Given the description of an element on the screen output the (x, y) to click on. 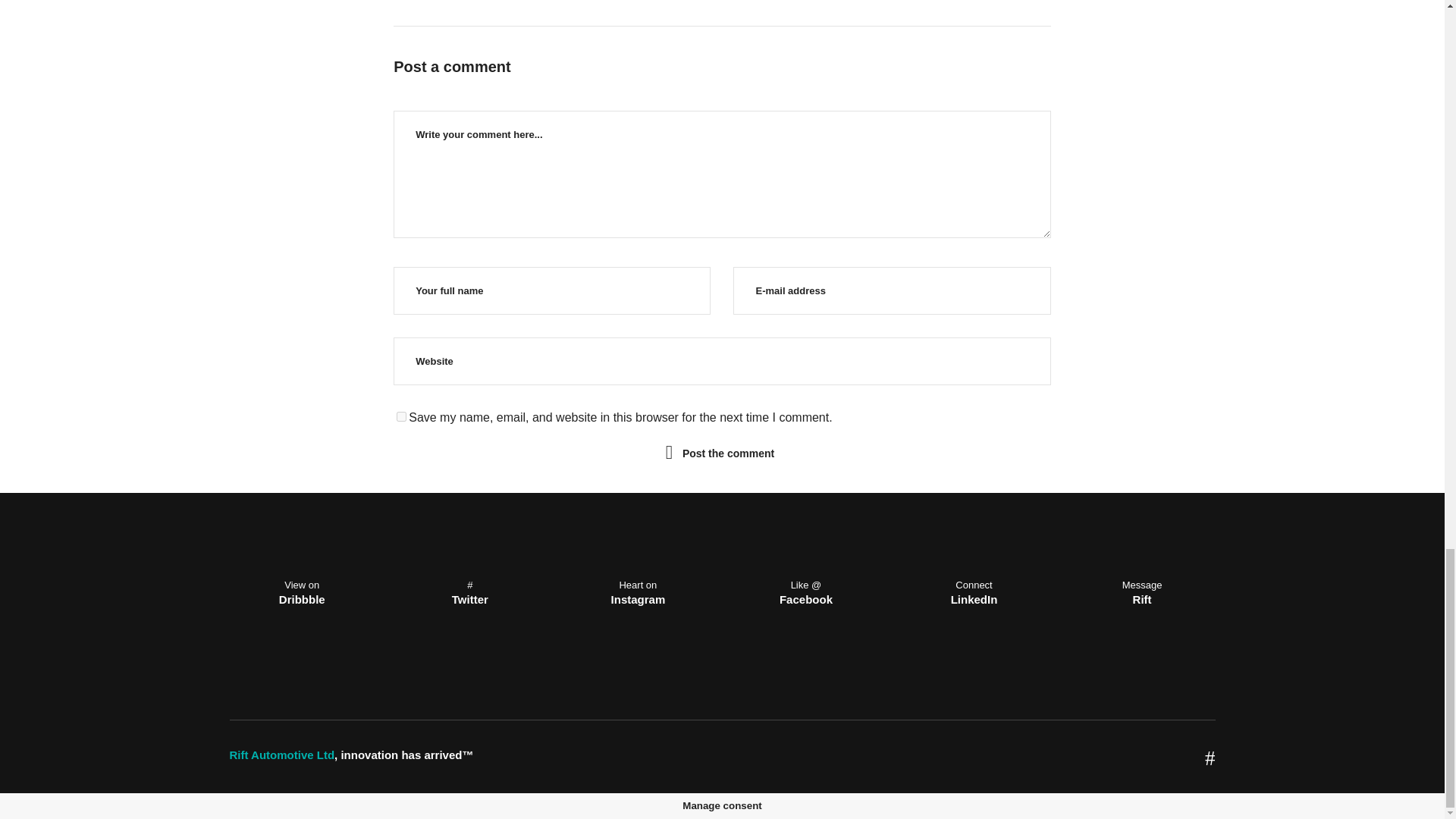
Post the comment (728, 452)
Post the comment (728, 452)
yes (401, 416)
